Given the description of an element on the screen output the (x, y) to click on. 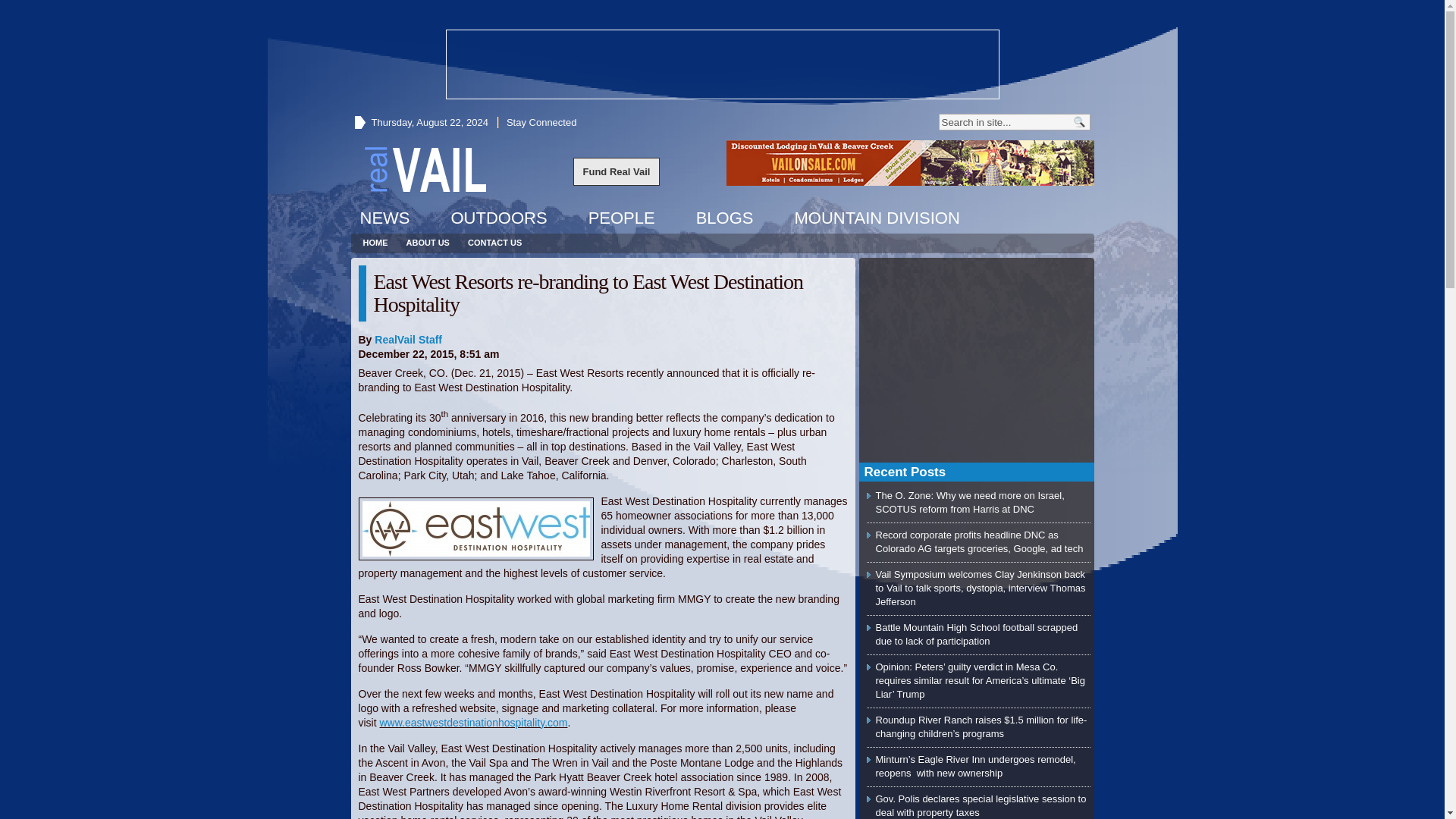
RealVail Staff (408, 339)
Posts by RealVail Staff (408, 339)
Vail Valley News, Guides, and Information (424, 168)
Fund Real Vail (617, 171)
www.eastwestdestinationhospitality.com (472, 722)
HOME (374, 242)
ABOUT US (427, 242)
Search in site... (1004, 121)
BLOGS (724, 217)
